Given the description of an element on the screen output the (x, y) to click on. 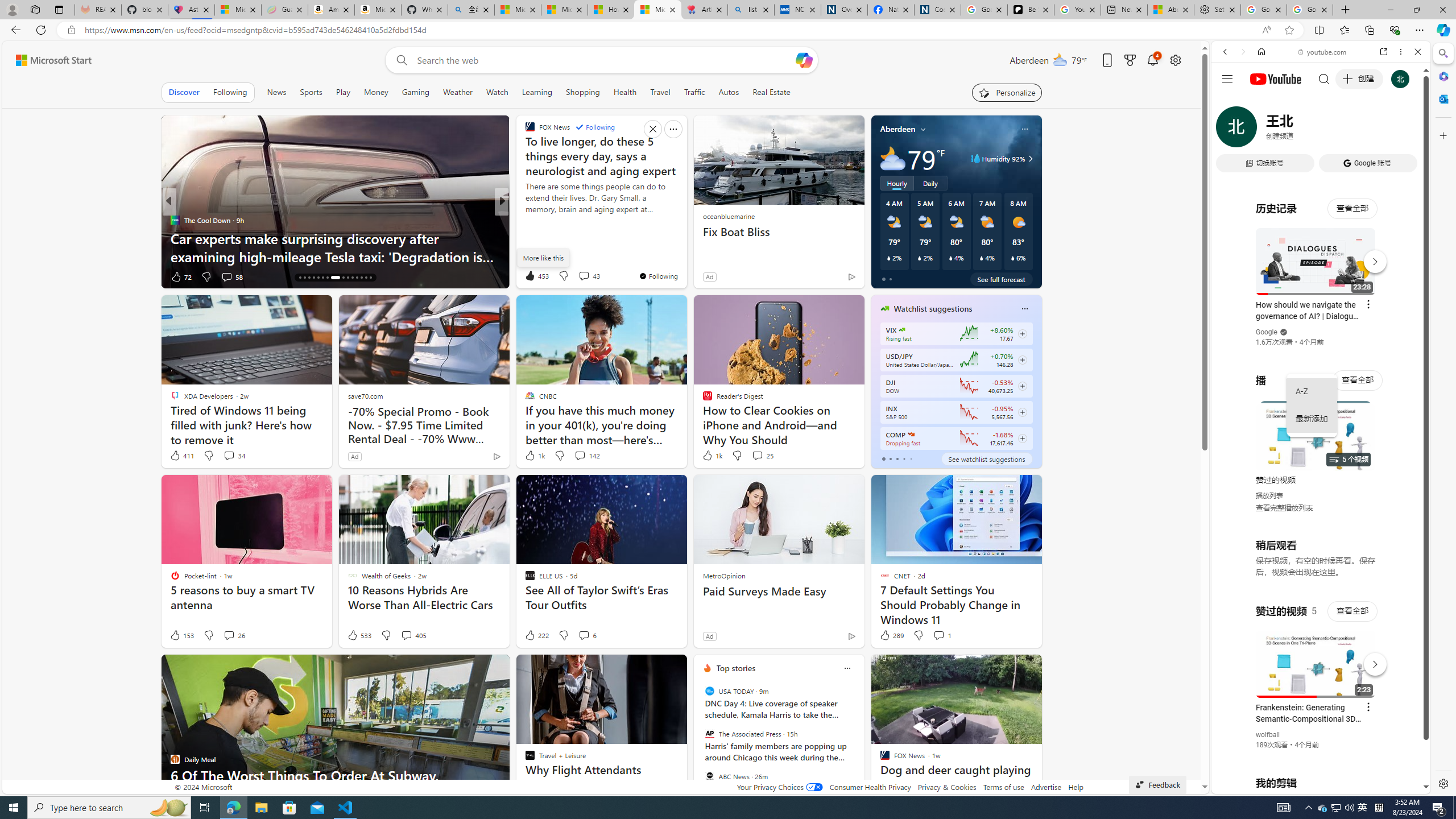
View comments 26 Comment (228, 635)
View comments 496 Comment (576, 276)
